Given the description of an element on the screen output the (x, y) to click on. 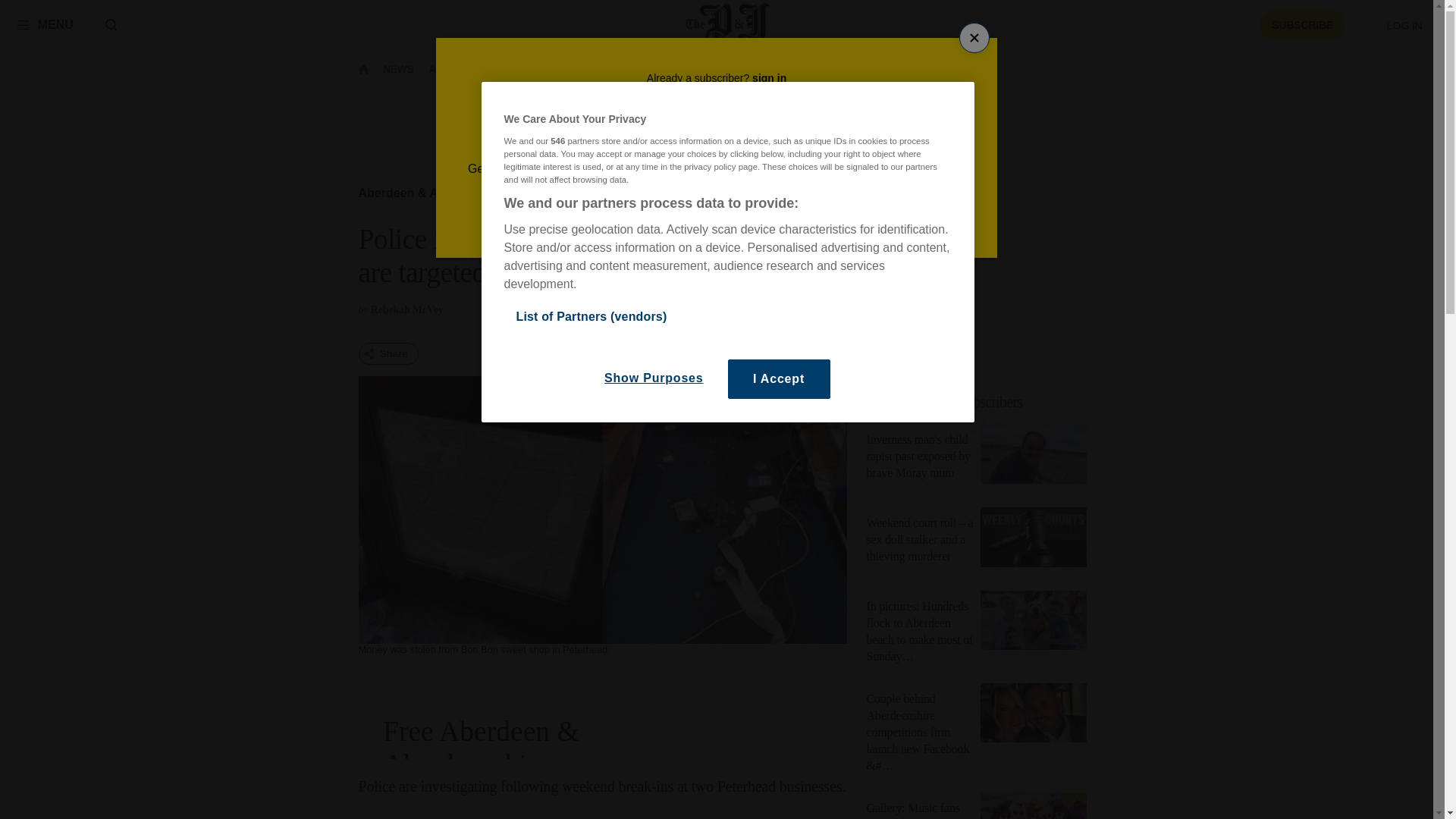
Exclusive to our subscribers (981, 402)
Inverness man's child rapist past exposed by brave Moray mum (1032, 456)
Press and Journal (727, 24)
MENU (44, 24)
Inverness man's child rapist past exposed by brave Moray mum (917, 456)
Exclusive to our subscribers (944, 402)
